Given the description of an element on the screen output the (x, y) to click on. 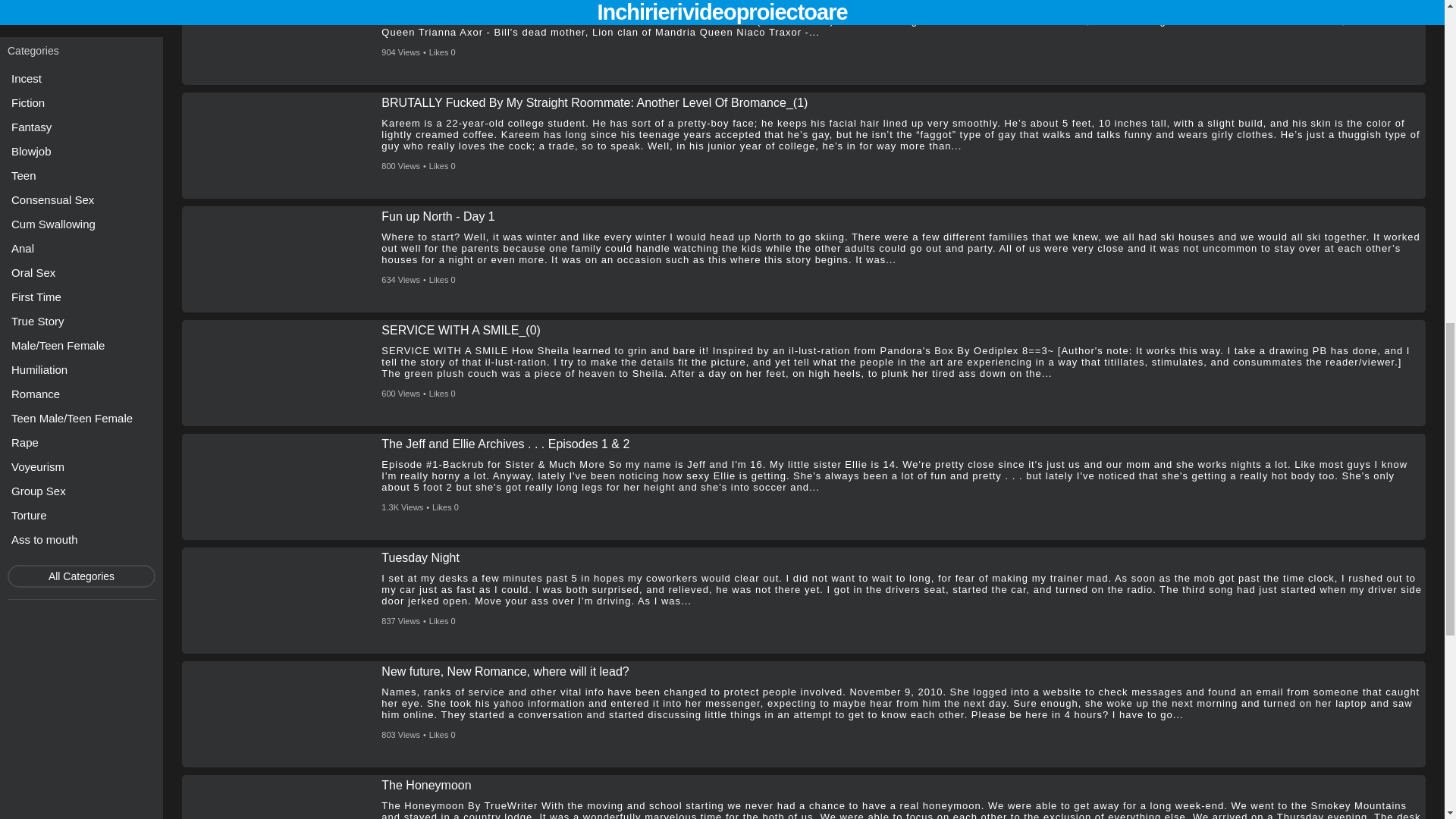
New future, New Romance, where will it lead? (504, 671)
Fun up North - Day 1 (438, 216)
The Honeymoon (425, 785)
Tuesday Night (420, 558)
